Given the description of an element on the screen output the (x, y) to click on. 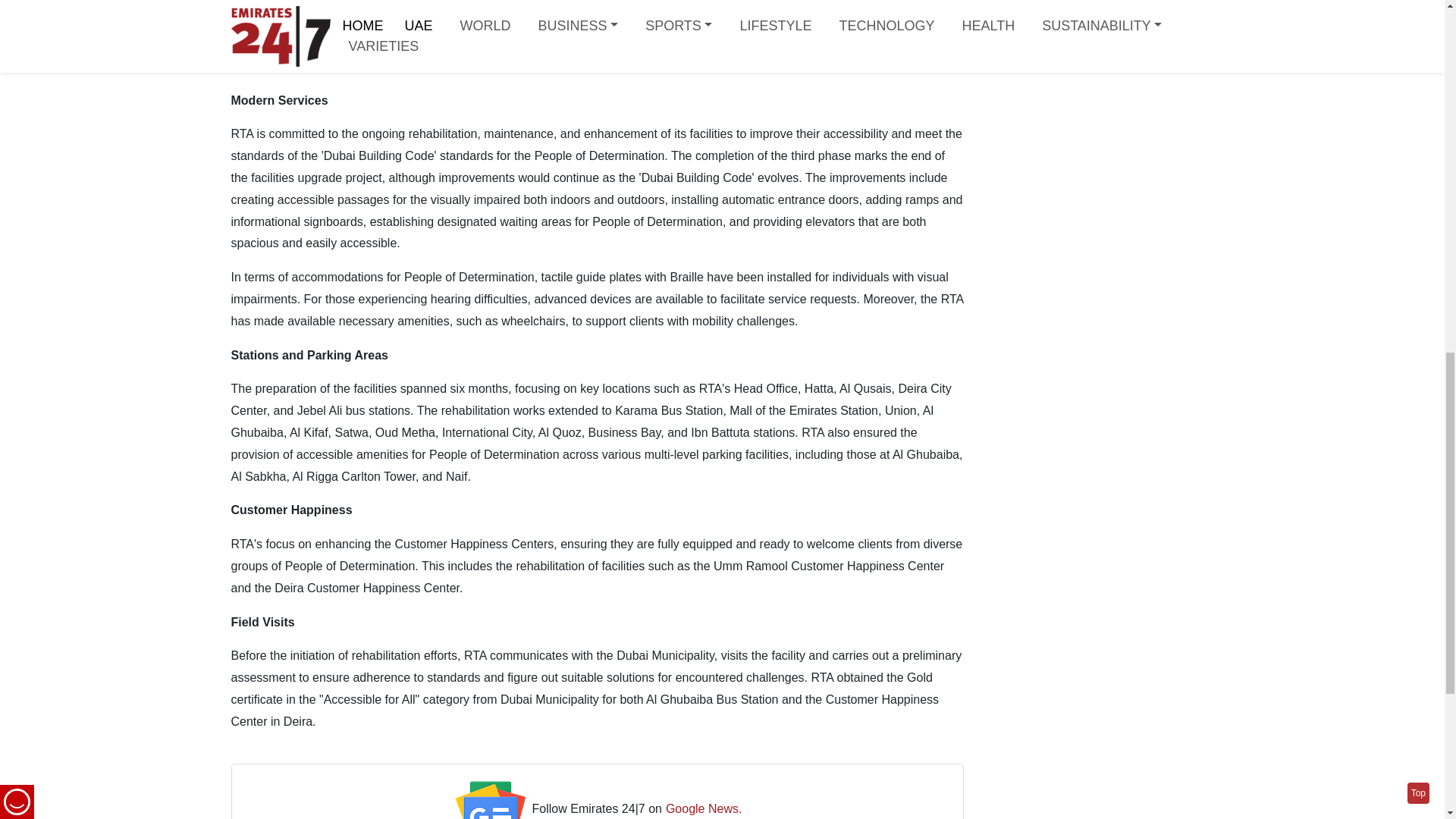
Google News. (703, 808)
